Given the description of an element on the screen output the (x, y) to click on. 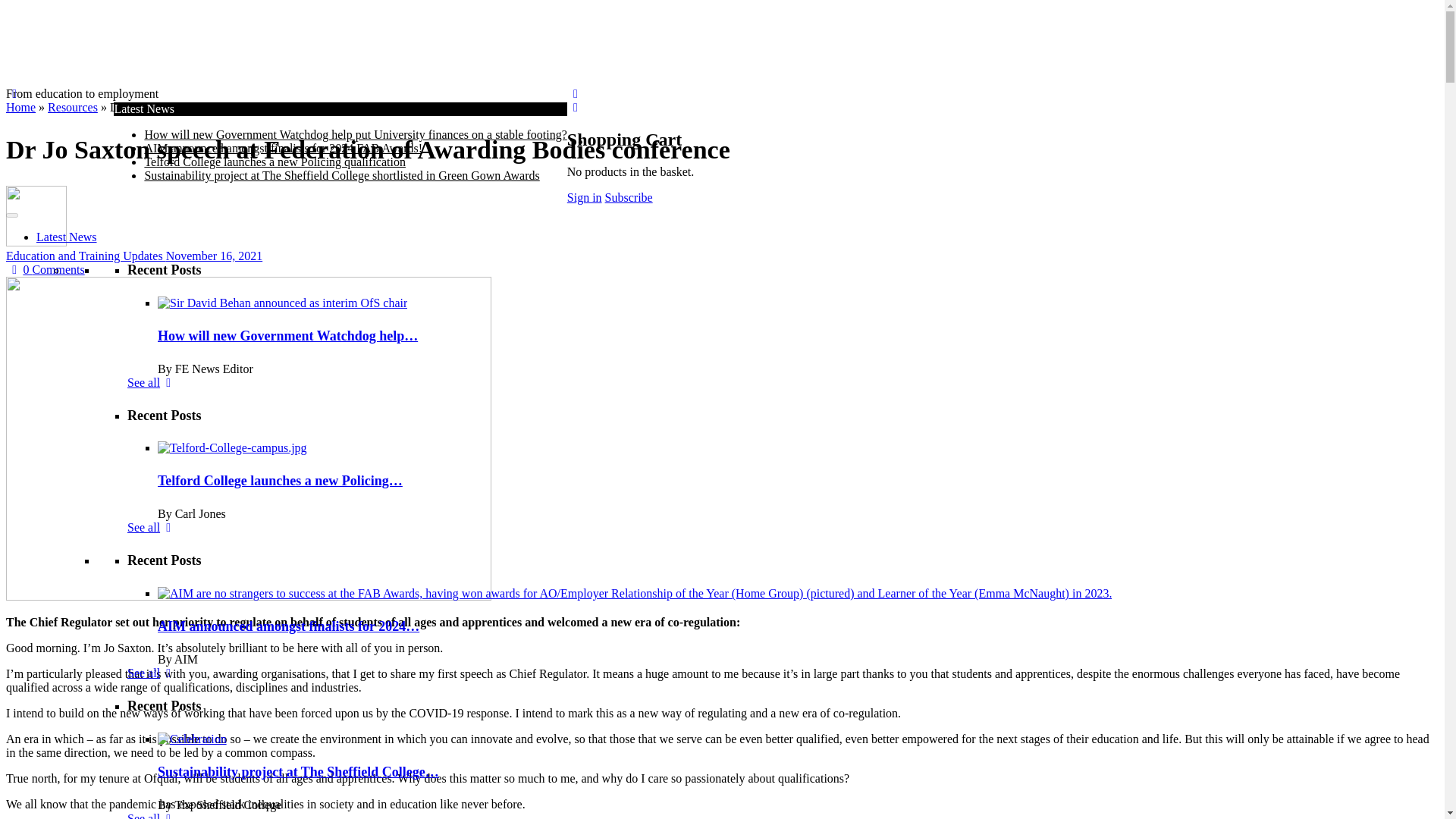
See all (152, 815)
Sign in (584, 196)
Telford College launches a new Policing qualification (275, 161)
Subscribe (628, 196)
See all (152, 382)
Latest News (66, 236)
See all (152, 526)
See all (152, 672)
AIM announced amongst finalists for 2024 FAB Awards! (283, 147)
